Given the description of an element on the screen output the (x, y) to click on. 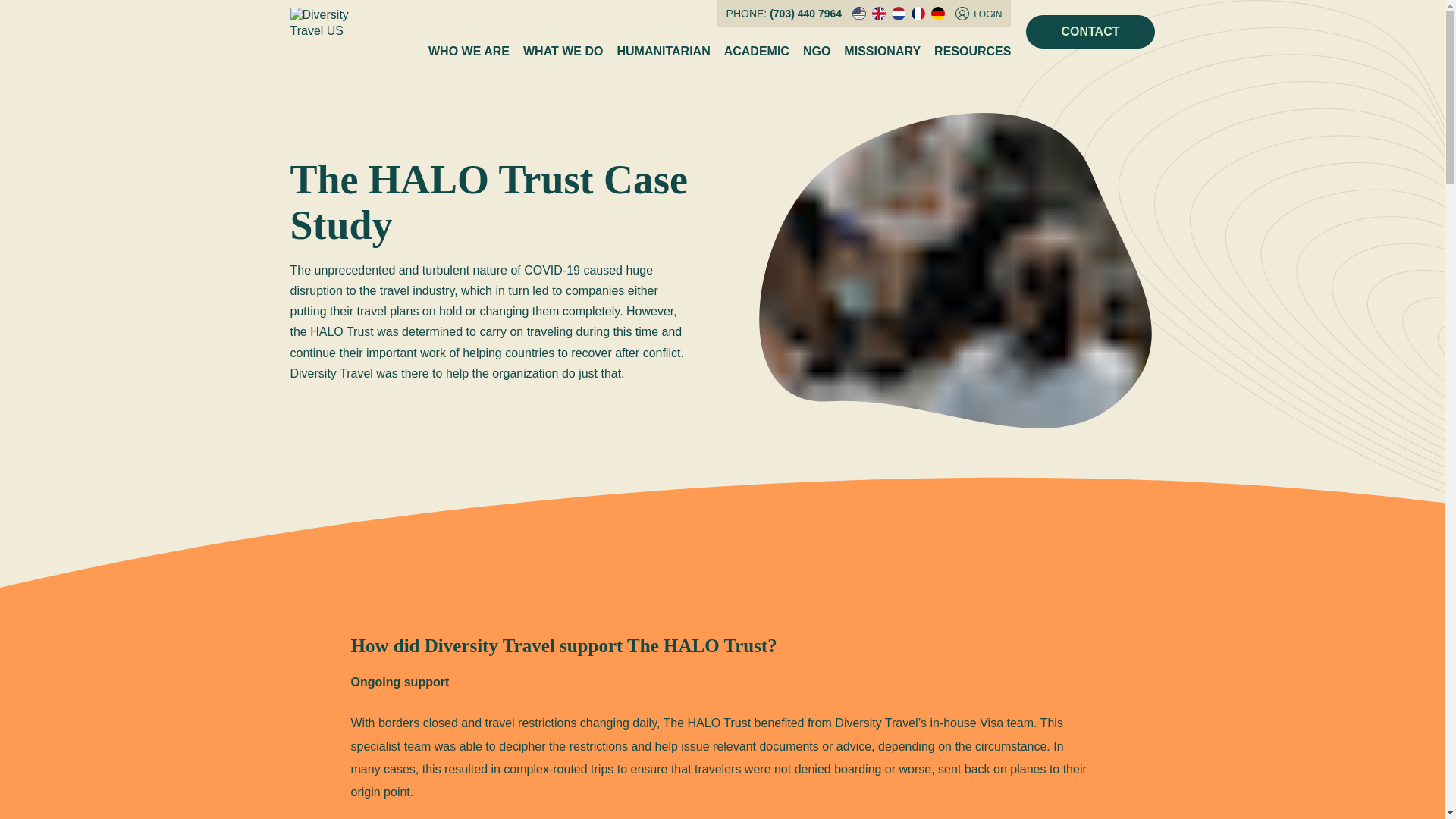
HUMANITARIAN (662, 51)
ACADEMIC (756, 51)
RESOURCES (972, 51)
MISSIONARY (882, 51)
LOGIN (978, 13)
CONTACT (1090, 31)
WHAT WE DO (562, 51)
WHO WE ARE (468, 51)
